Given the description of an element on the screen output the (x, y) to click on. 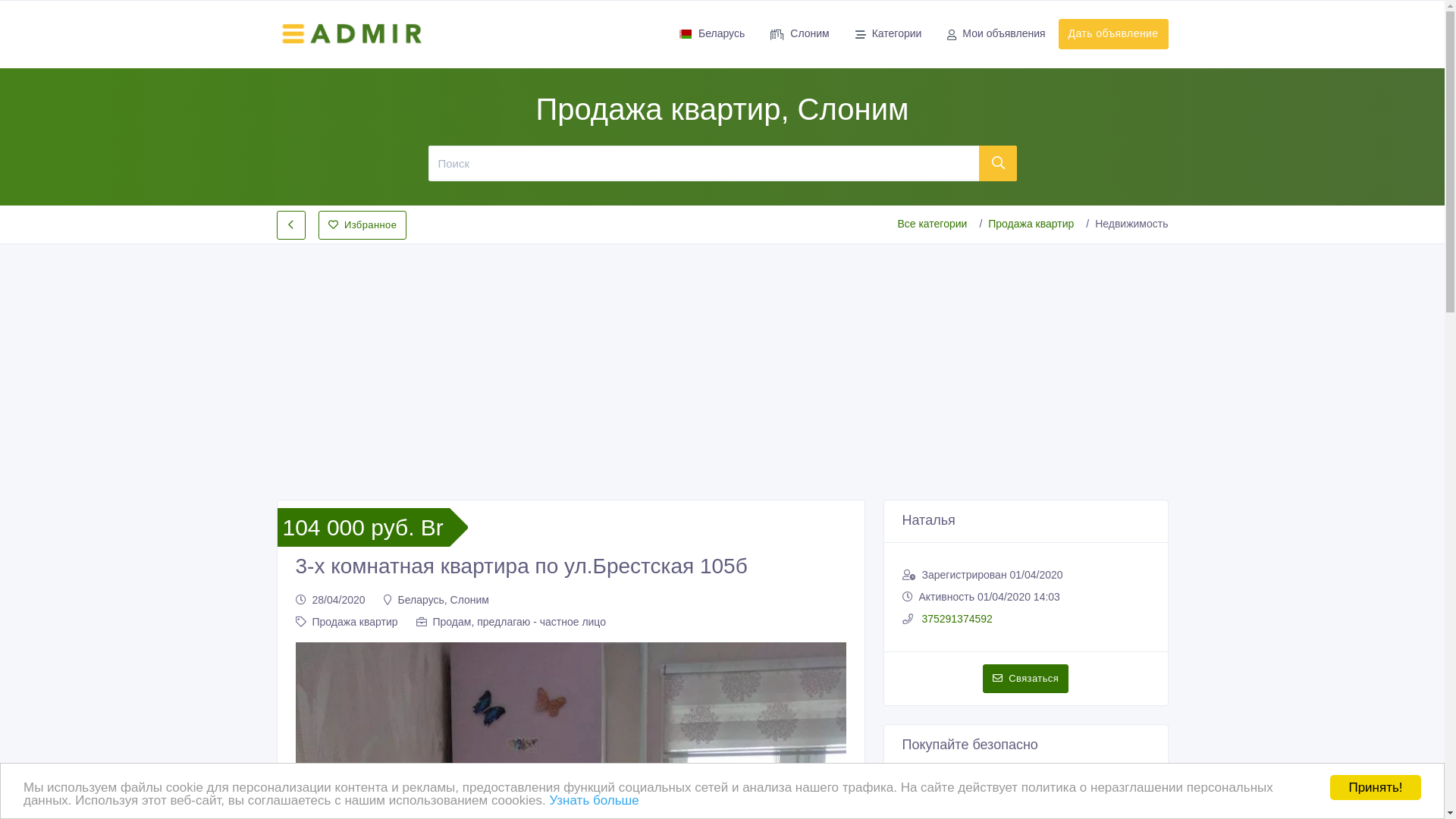
Advertisement Element type: hover (721, 359)
375291374592 Element type: text (955, 618)
